Given the description of an element on the screen output the (x, y) to click on. 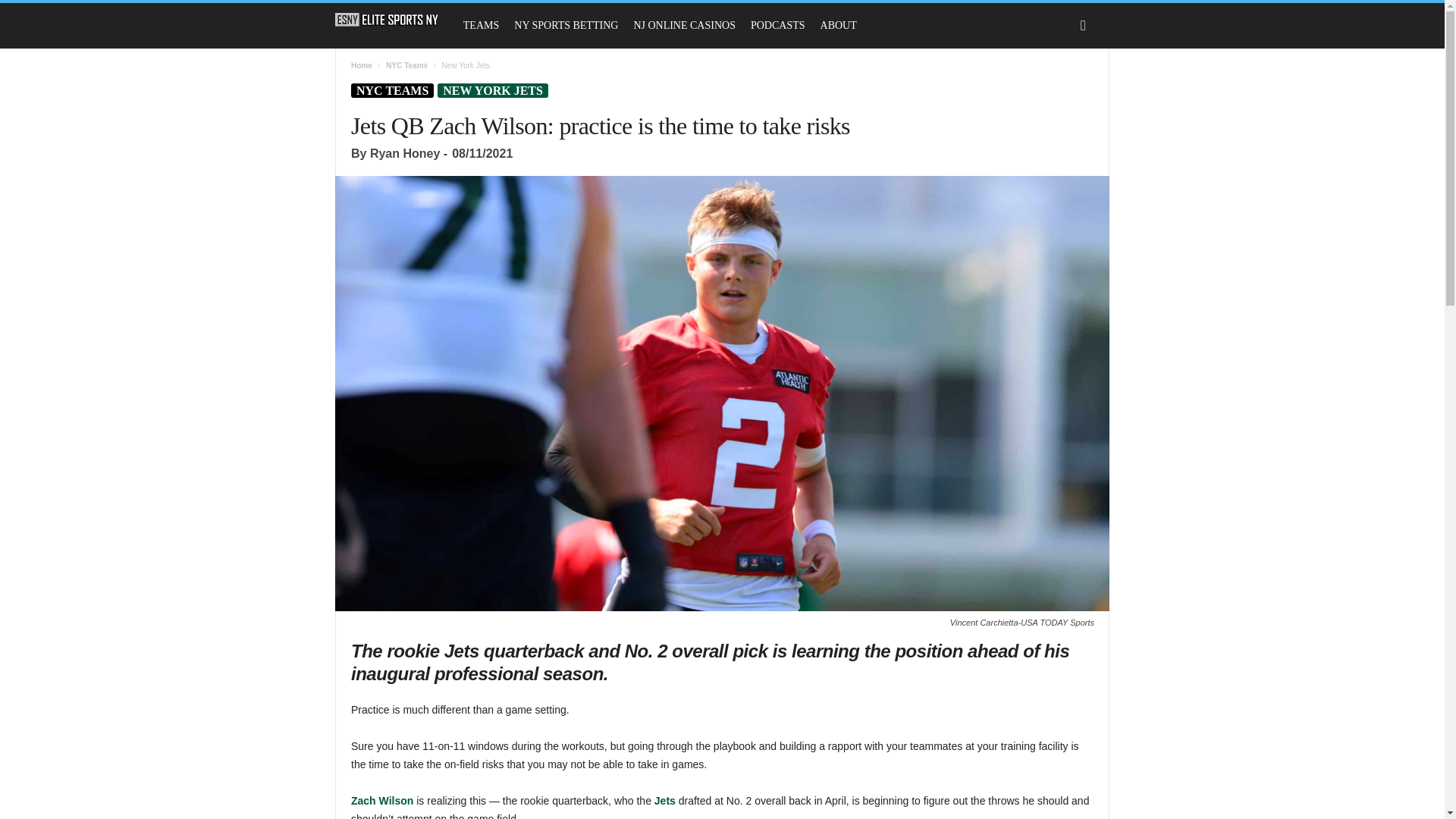
Elite Sports NY (386, 19)
Elite Sports NY (394, 19)
View all posts in NYC Teams (406, 65)
TEAMS (480, 25)
